Given the description of an element on the screen output the (x, y) to click on. 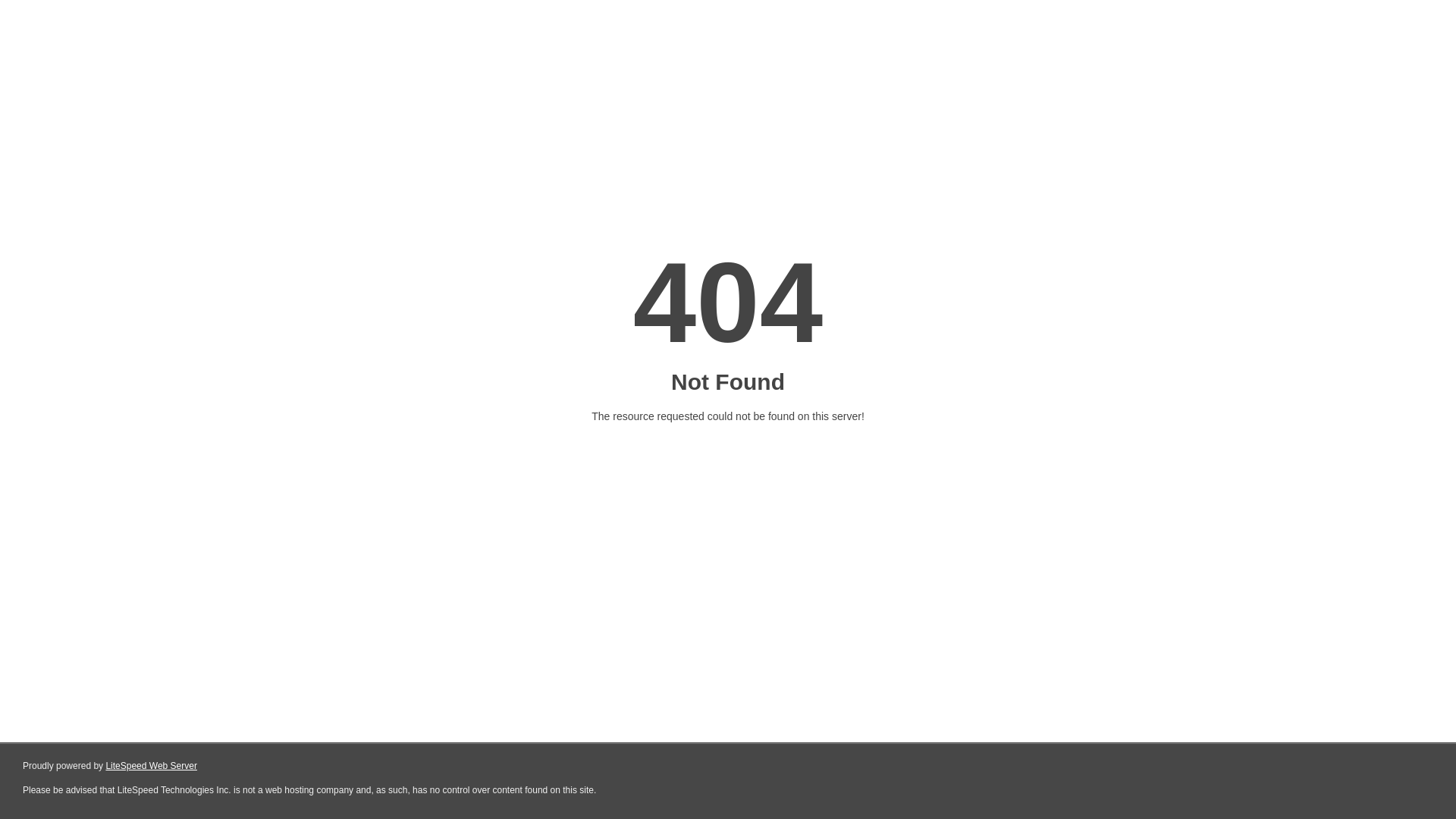
LiteSpeed Web Server Element type: text (151, 765)
